Given the description of an element on the screen output the (x, y) to click on. 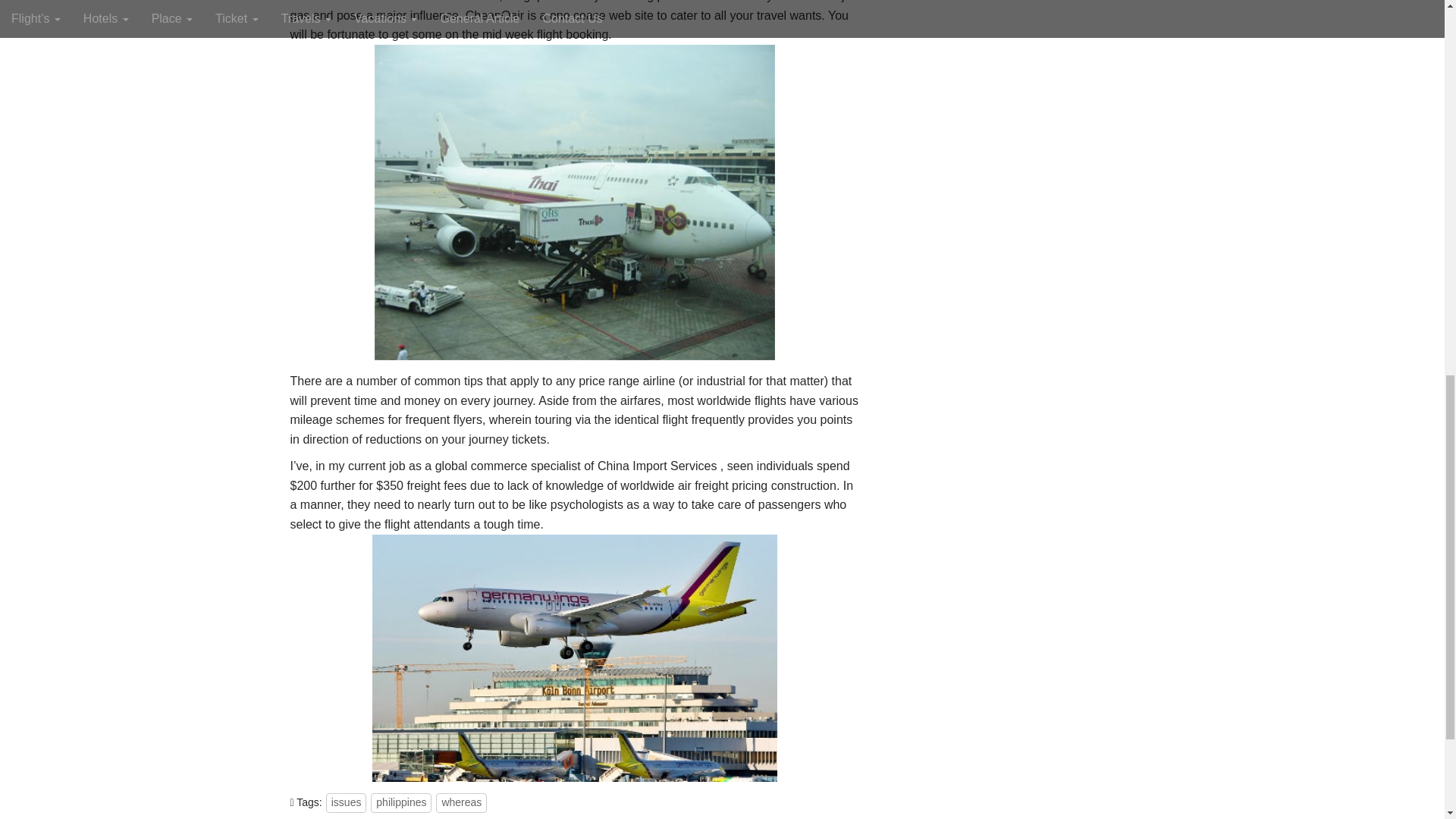
philippines (400, 649)
issues (346, 649)
whereas (460, 649)
